Given the description of an element on the screen output the (x, y) to click on. 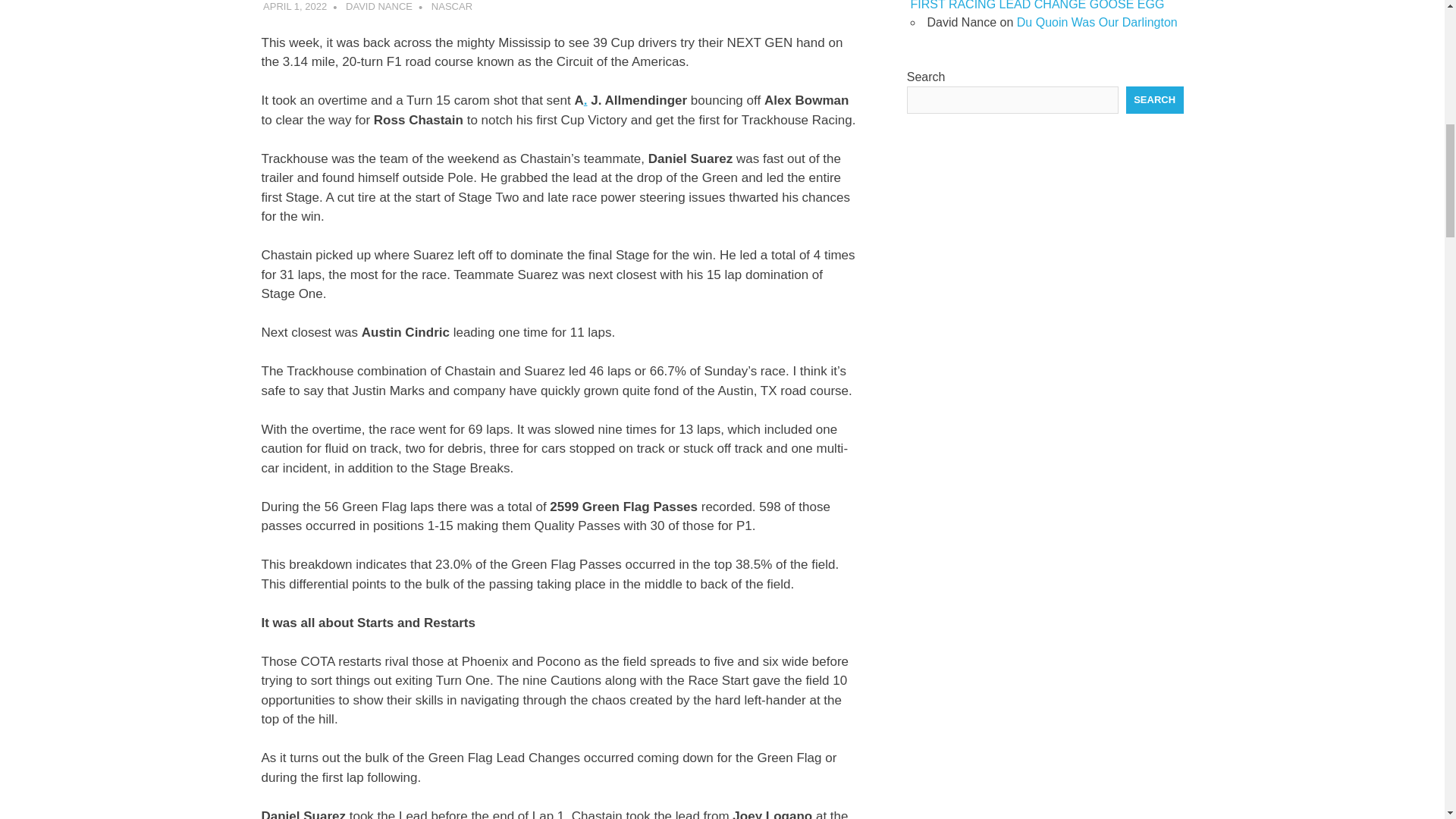
View all posts by David Nance (379, 6)
DAVID NANCE (379, 6)
APRIL 1, 2022 (294, 6)
12:07 (294, 6)
NASCAR (450, 6)
